Given the description of an element on the screen output the (x, y) to click on. 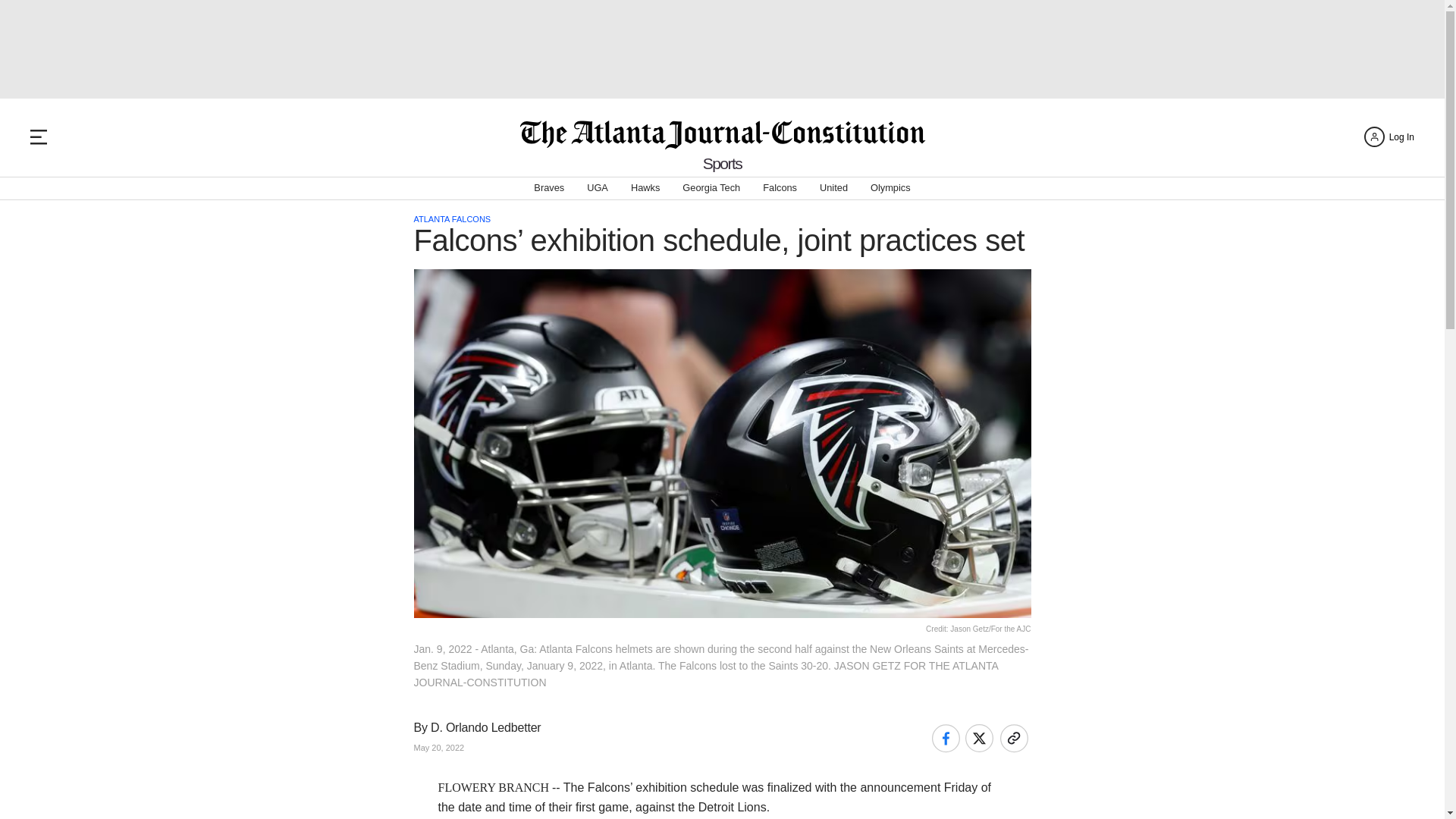
Falcons (779, 188)
UGA (597, 188)
United (833, 188)
Georgia Tech (710, 188)
Braves (549, 188)
Sports (722, 163)
Olympics (890, 188)
Hawks (644, 188)
